Given the description of an element on the screen output the (x, y) to click on. 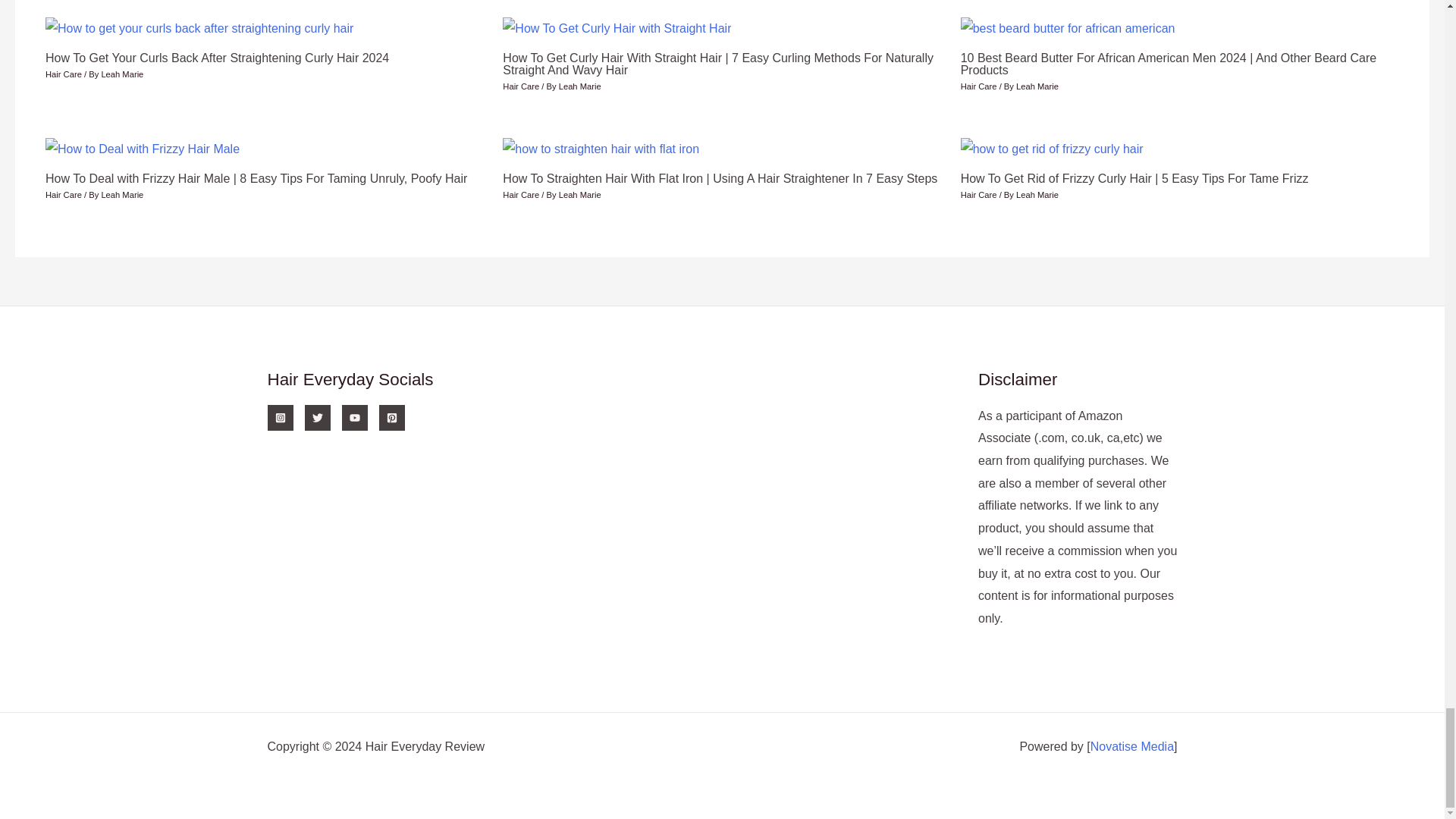
View all posts by Leah Marie (580, 85)
View all posts by Leah Marie (1037, 85)
View all posts by Leah Marie (580, 194)
View all posts by Leah Marie (1037, 194)
View all posts by Leah Marie (121, 73)
View all posts by Leah Marie (121, 194)
